Given the description of an element on the screen output the (x, y) to click on. 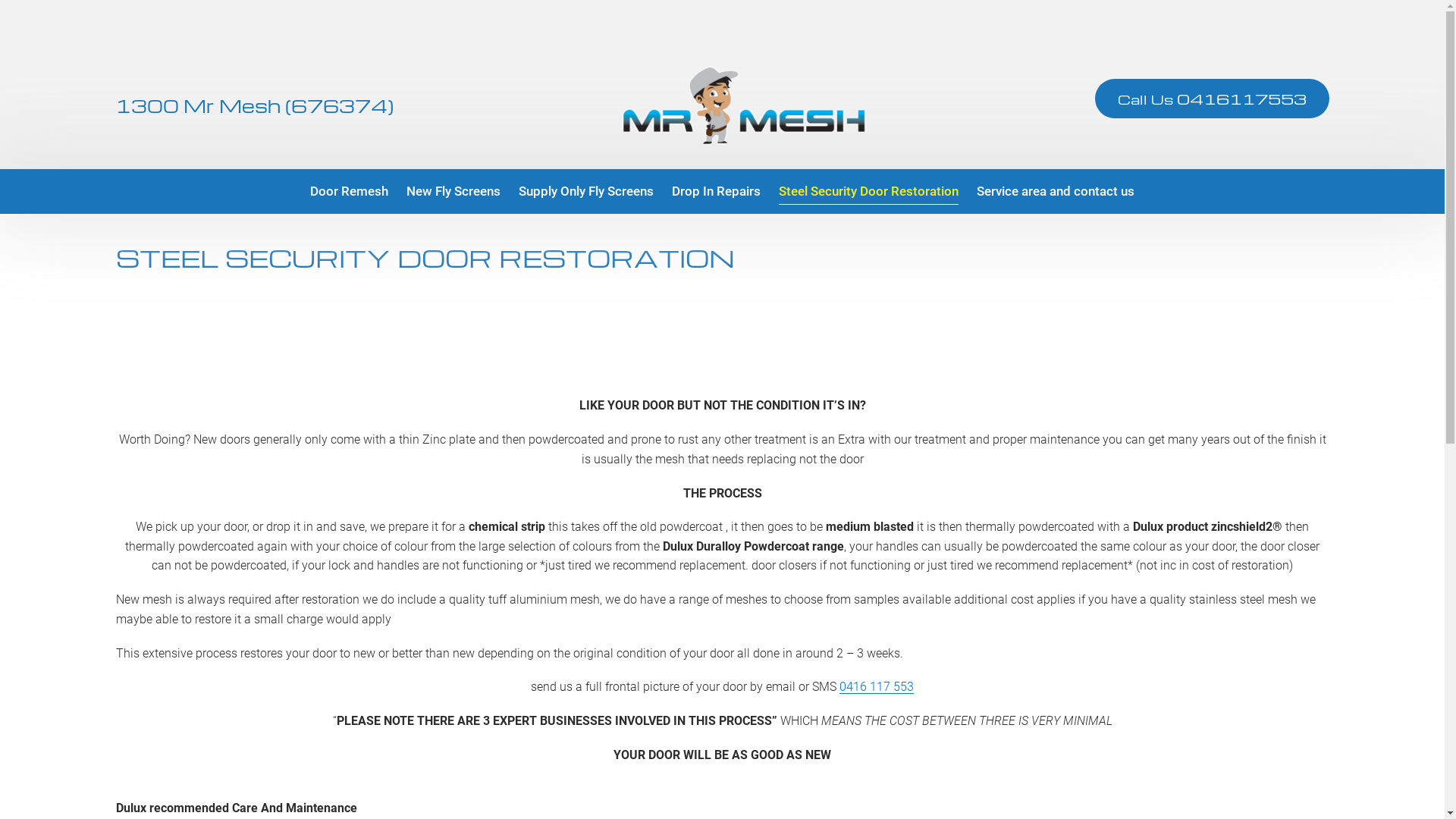
0416 117 553 Element type: text (876, 686)
0416117553 Element type: text (1241, 98)
Drop In Repairs Element type: text (715, 190)
Steel Security Door Restoration Element type: text (868, 191)
New Fly Screens Element type: text (453, 190)
Service area and contact us Element type: text (1055, 190)
1300 Mr Mesh (676374) Element type: text (254, 105)
Door Remesh Element type: text (349, 190)
Supply Only Fly Screens Element type: text (585, 190)
